Given the description of an element on the screen output the (x, y) to click on. 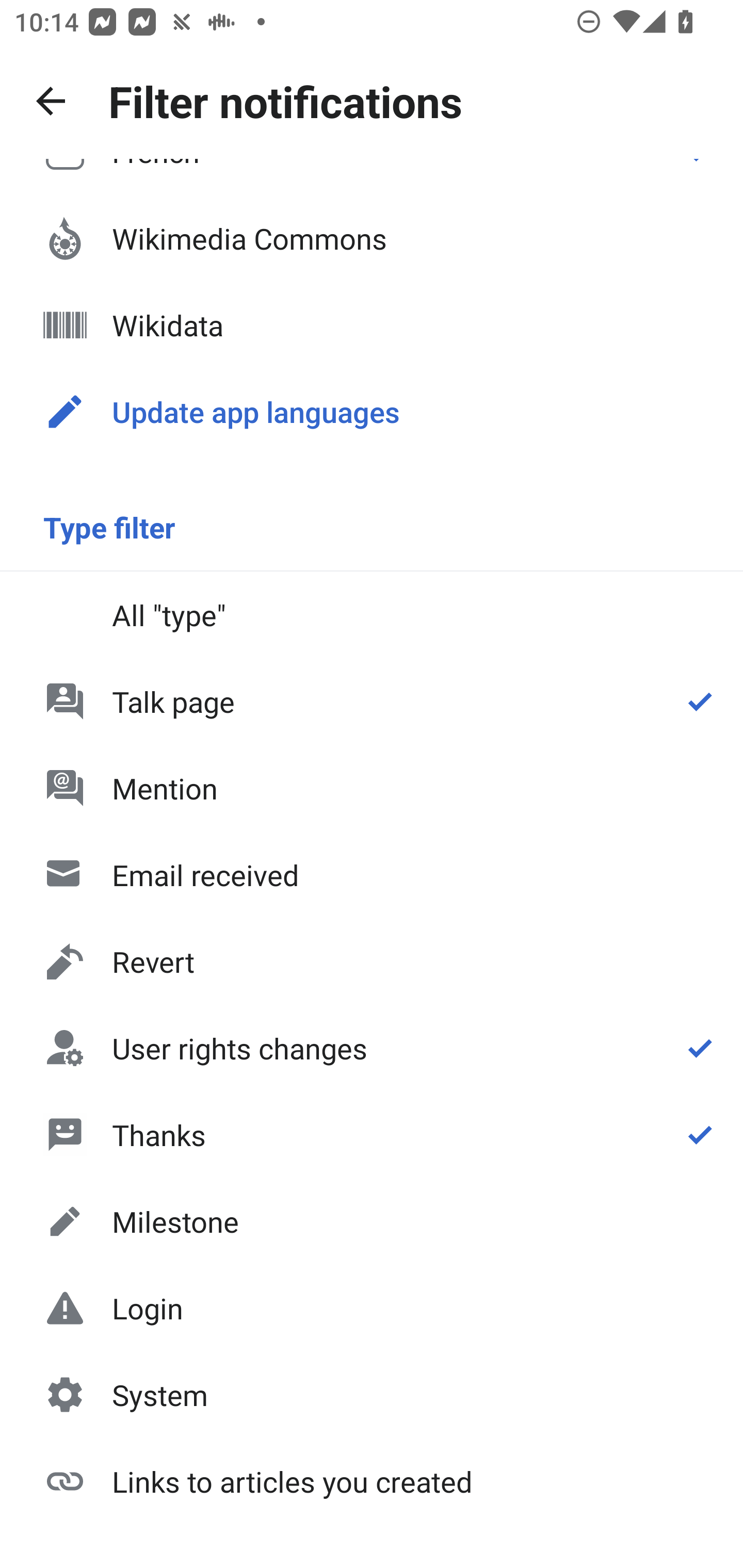
Navigate up (50, 101)
Wikimedia Commons (371, 238)
Wikidata (371, 325)
Update app languages (371, 411)
All "type" (371, 614)
Talk page (371, 701)
Mention (371, 787)
Email received (371, 874)
Revert (371, 961)
User rights changes (371, 1048)
Thanks (371, 1134)
Milestone (371, 1221)
Login (371, 1308)
System (371, 1394)
Links to articles you created (371, 1480)
